Given the description of an element on the screen output the (x, y) to click on. 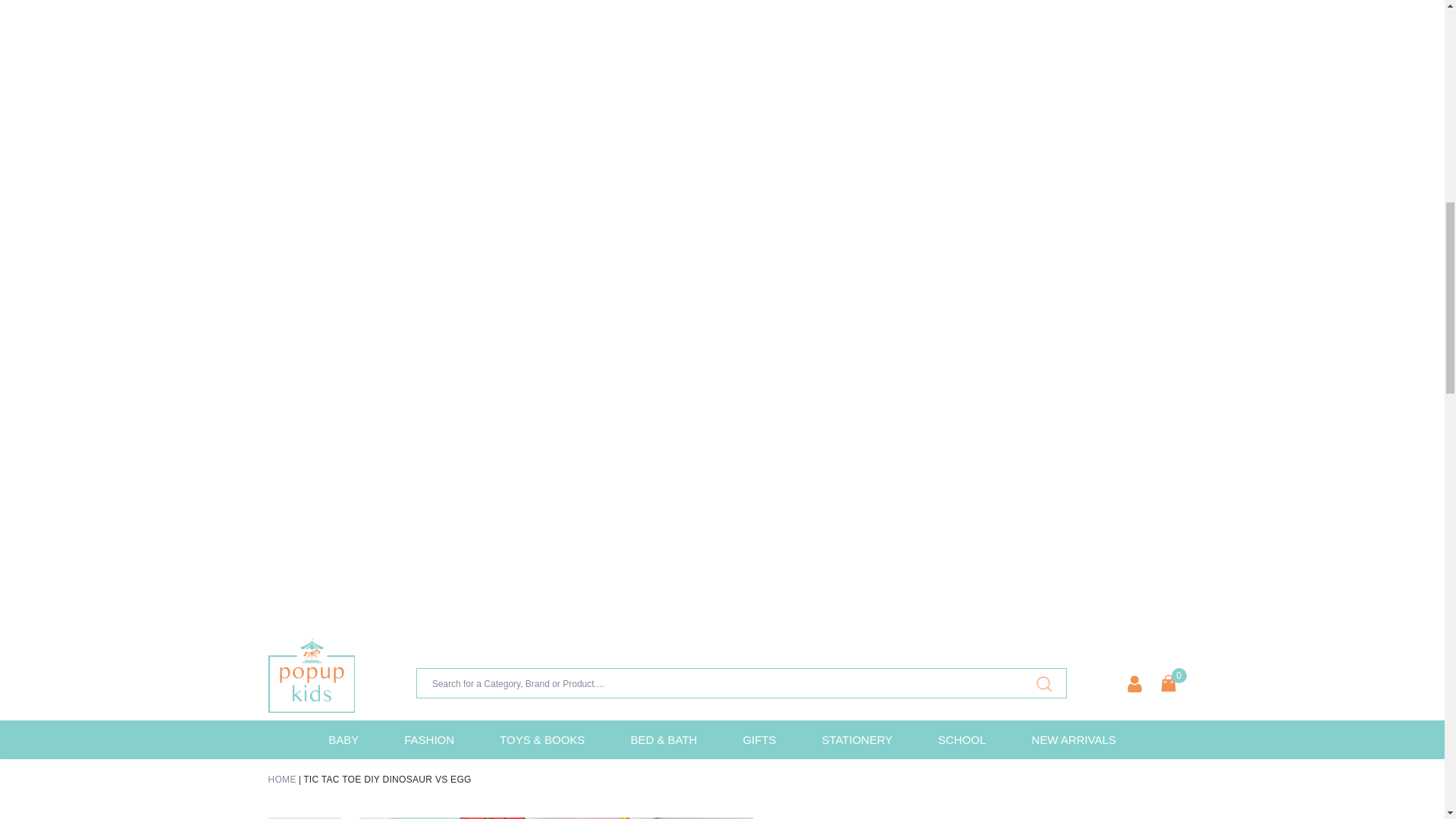
Logo (311, 675)
0 (1168, 682)
Cart Icon (1168, 682)
